Given the description of an element on the screen output the (x, y) to click on. 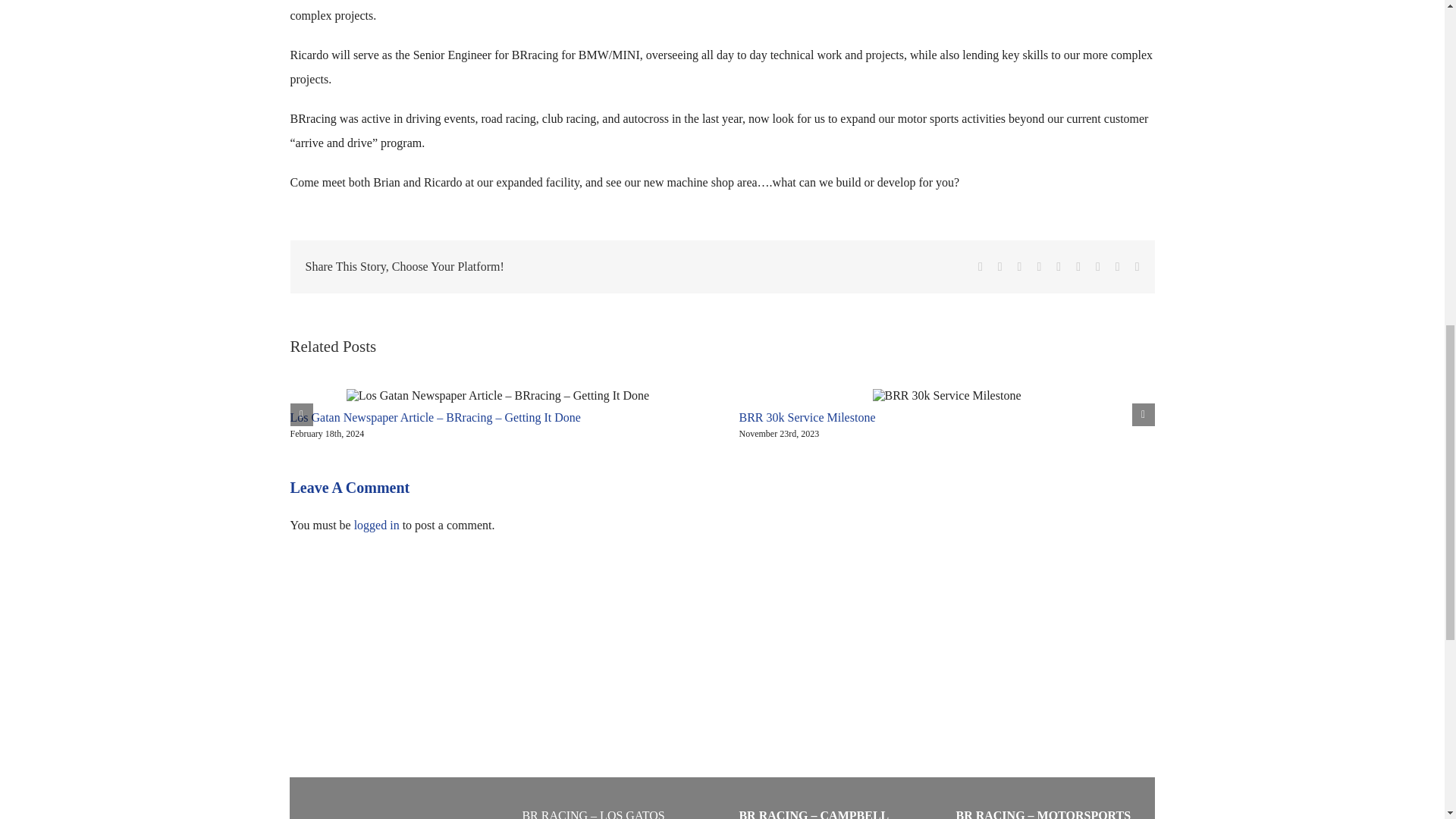
BRR 30k Service Milestone (806, 417)
